Given the description of an element on the screen output the (x, y) to click on. 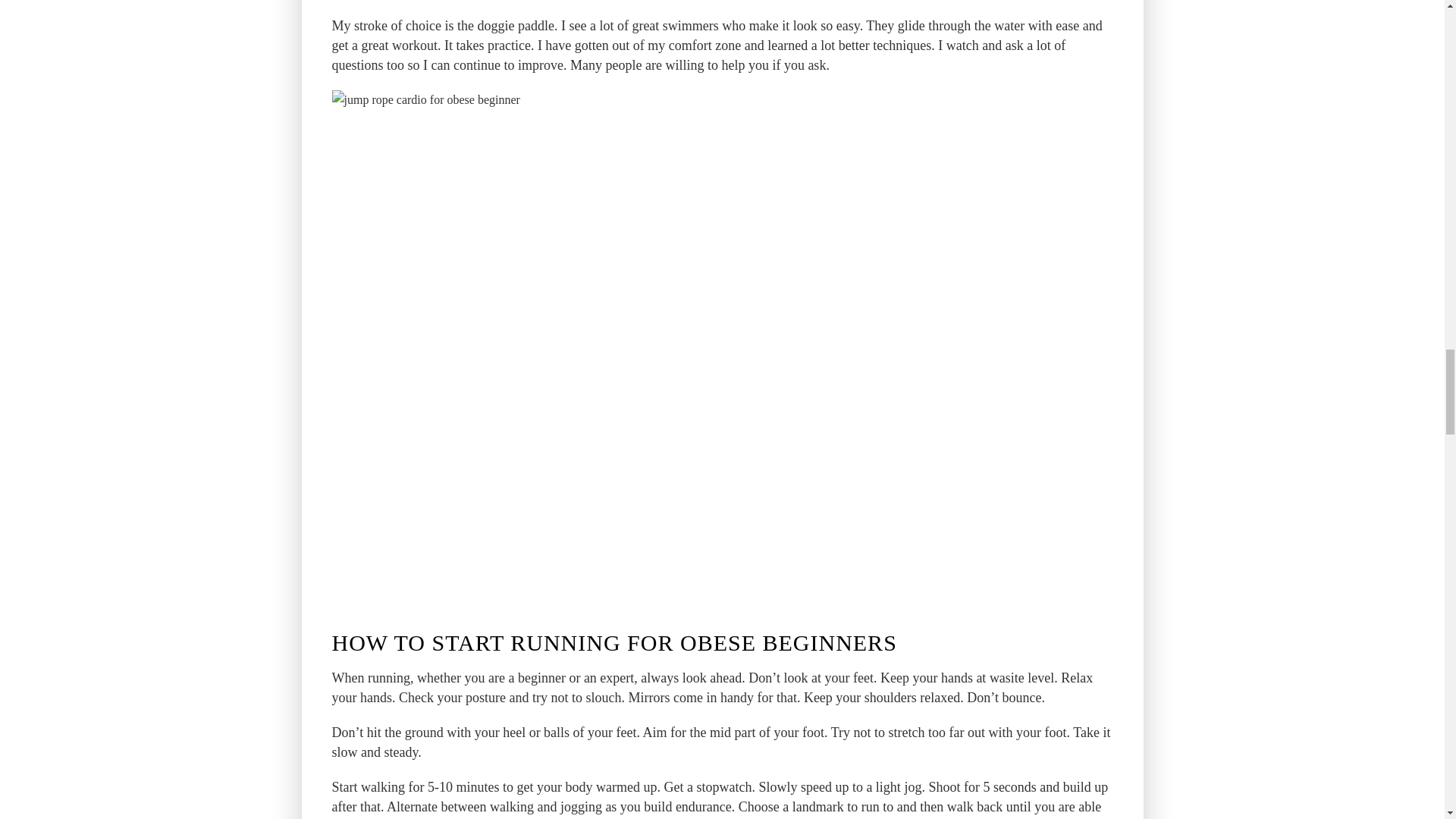
RUNNING FOR OBESE BEGINNERS (703, 642)
